Given the description of an element on the screen output the (x, y) to click on. 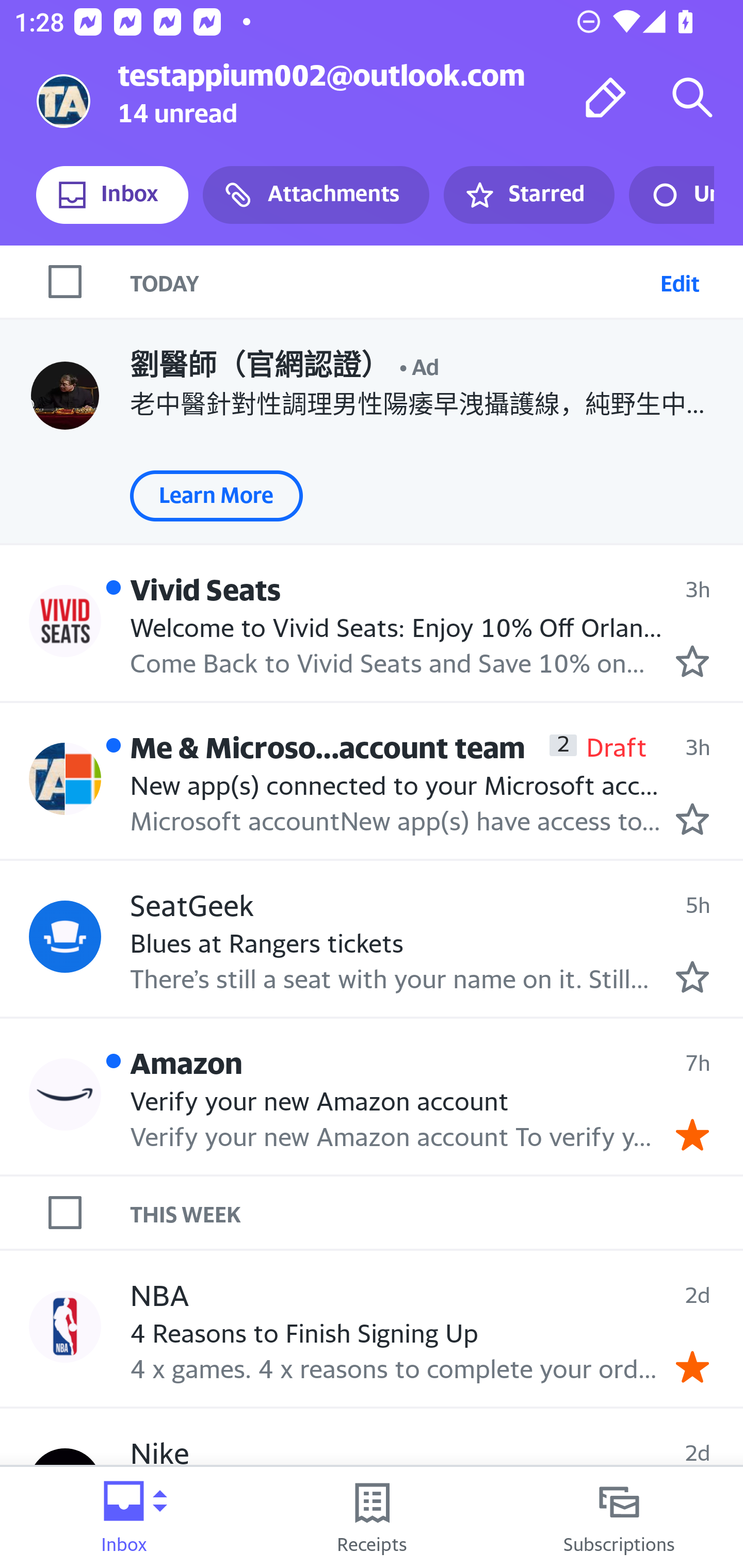
Compose (605, 97)
Search mail (692, 97)
Attachments (315, 195)
Starred (528, 195)
TODAY (391, 281)
Edit Select emails (679, 281)
Profile
Vivid Seats (64, 620)
Mark as starred. (692, 660)
Profile
Me & Microsoft account team (64, 779)
Mark as starred. (692, 819)
Profile
SeatGeek (64, 936)
Mark as starred. (692, 977)
Profile
Amazon (64, 1094)
Remove star. (692, 1134)
THIS WEEK (436, 1212)
Profile
NBA (64, 1326)
Remove star. (692, 1366)
Inbox Folder picker (123, 1517)
Receipts (371, 1517)
Subscriptions (619, 1517)
